Given the description of an element on the screen output the (x, y) to click on. 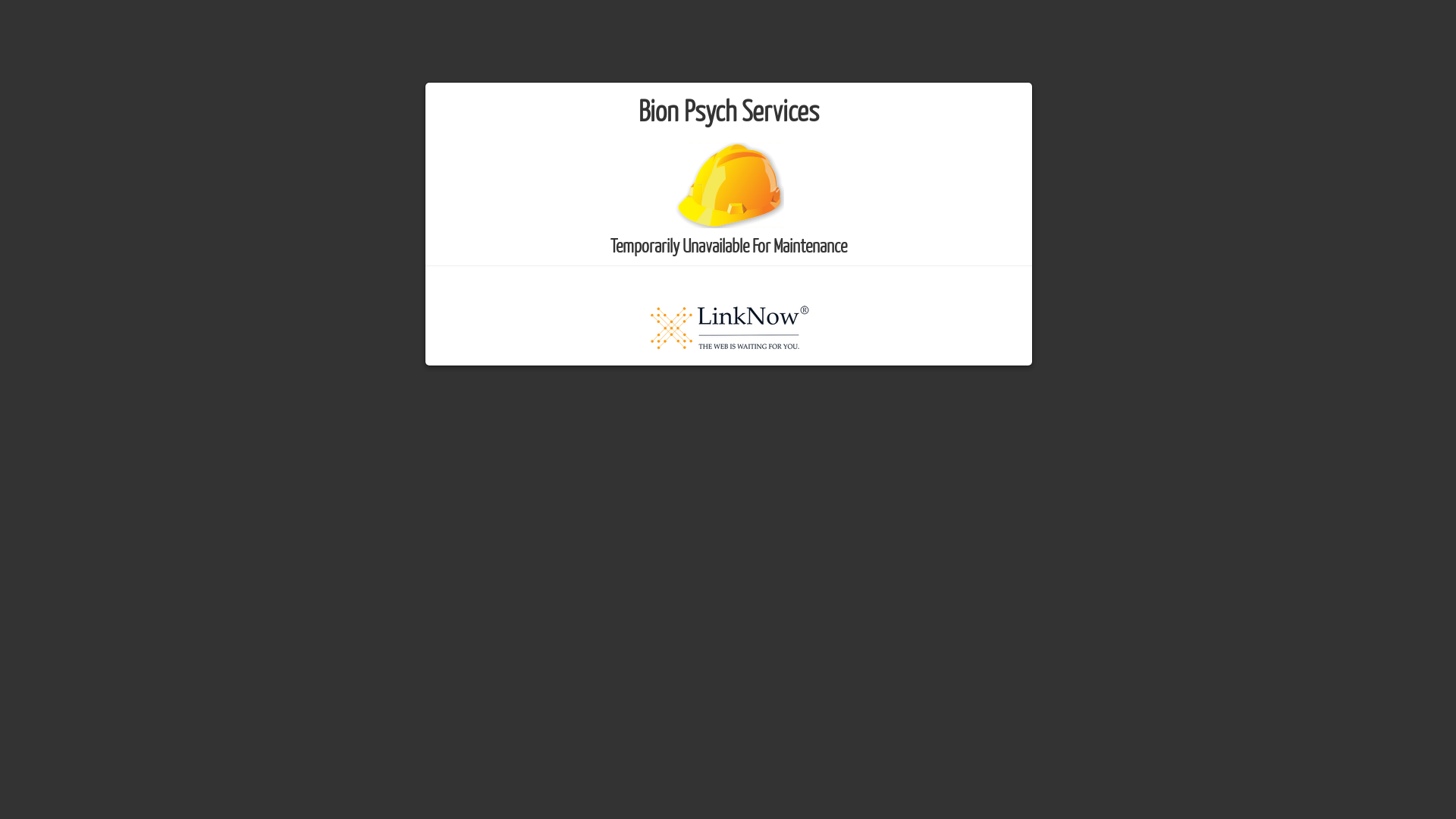
Hosted By LinkNow! Media Element type: hover (728, 326)
